Given the description of an element on the screen output the (x, y) to click on. 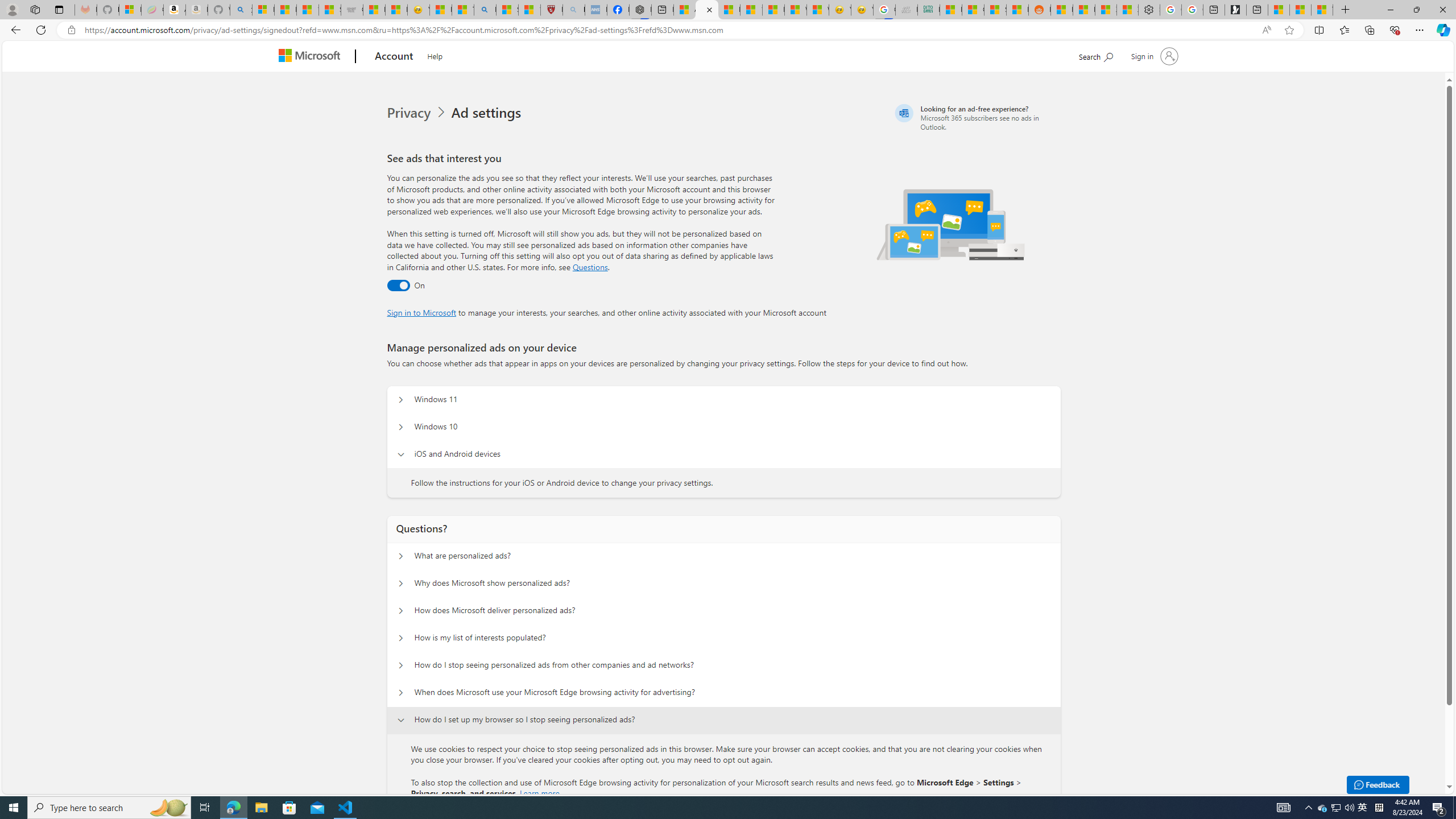
Questions? How is my list of interests populated? (401, 638)
Manage personalized ads on your device Windows 10 (401, 427)
Sign in to your account (1153, 55)
Ad settings (488, 112)
